Given the description of an element on the screen output the (x, y) to click on. 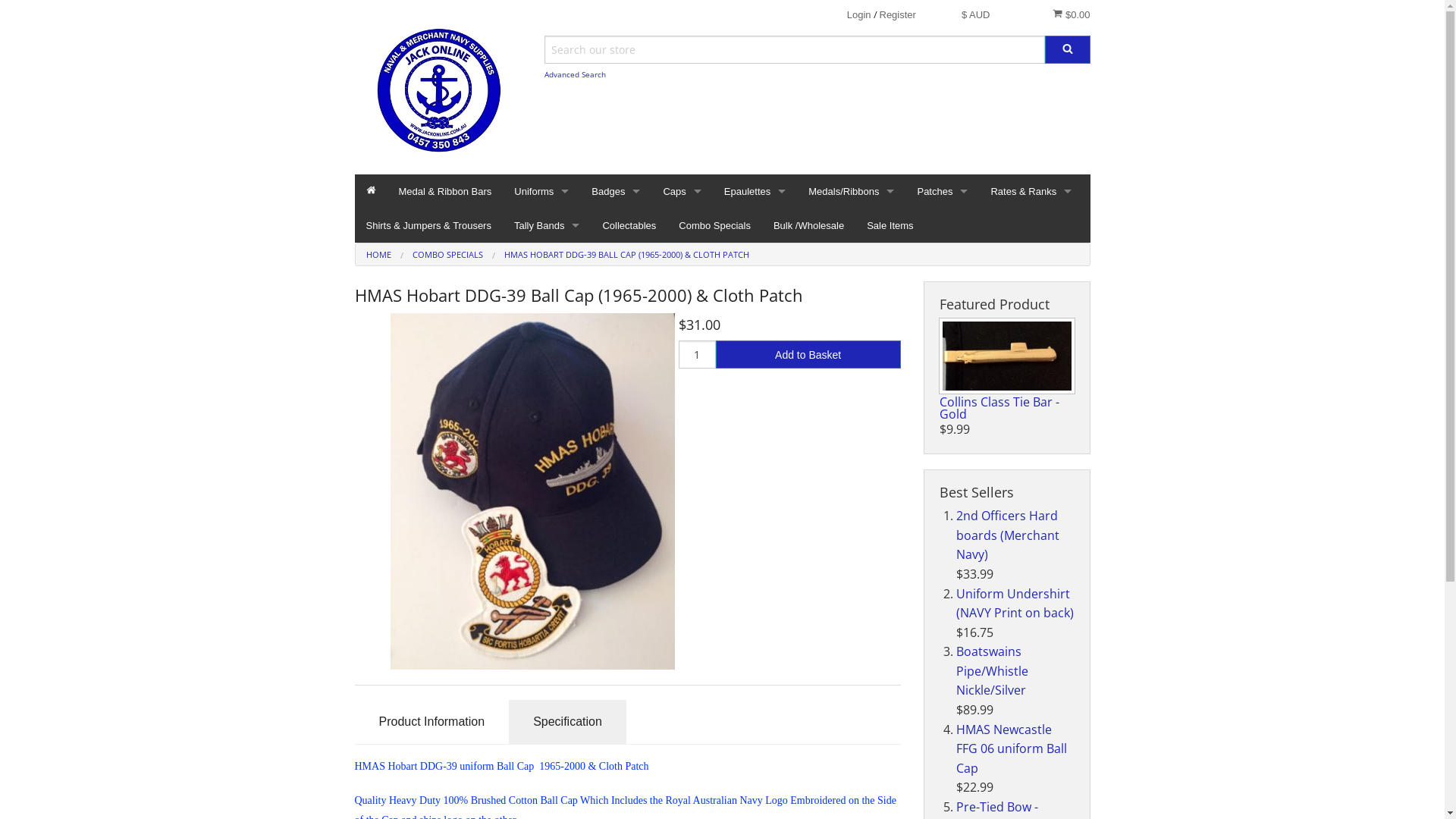
Sale Items Element type: text (889, 225)
Charter Boats Element type: text (754, 244)
Tally Bands Element type: text (546, 225)
Register Element type: text (897, 14)
Patches Element type: text (942, 191)
Collectable Rates & Ranks Element type: text (1030, 312)
Advanced Search Element type: text (574, 74)
Buttons Element type: text (541, 346)
2nd Officers Hard boards (Merchant Navy) Element type: text (1007, 534)
HMAS Newcastle FFG 06 uniform Ball Cap Element type: text (1011, 748)
Caps Element type: text (681, 191)
Mounted Medals Element type: text (851, 346)
Add to Basket Element type: text (807, 354)
Home Element type: hover (370, 191)
HOME Element type: text (377, 254)
Current RAN Caps Element type: text (681, 278)
Bulk /Wholesale Element type: text (808, 225)
Name Badge Element type: text (541, 449)
Belts Element type: text (541, 312)
Collectables Element type: text (628, 225)
ID Holders Element type: text (541, 381)
Collins Class Tie Bar - Gold  Element type: hover (1005, 355)
DPNU Patches Element type: text (942, 346)
Rates & Ranks Element type: text (1030, 191)
Medals/Ribbons Element type: text (851, 191)
Current RAN Tally Bands Element type: text (546, 278)
Merchant Navy Element type: text (754, 278)
HMAS HOBART DDG-39 BALL CAP (1965-2000) & CLOTH PATCH Element type: text (625, 254)
Collectable Patches Element type: text (942, 312)
Lanyards Element type: text (541, 415)
Raw Medal / Ribbon Mounting Bars Element type: text (851, 415)
Specification Element type: text (567, 721)
Metal Badges Element type: text (615, 278)
Royal Australian Navy Element type: text (754, 312)
COMBO SPECIALS Element type: text (447, 254)
Shirts & Jumpers & Trousers Element type: text (428, 225)
Epaulettes Element type: text (754, 191)
Combo Specials Element type: text (714, 225)
Current Rates & Ranks Element type: text (1030, 278)
Uniforms Element type: text (541, 191)
$0.00 Element type: text (1070, 14)
Uniform Undershirt (NAVY Print on back) Element type: text (1014, 603)
Badges Element type: text (615, 191)
Gold Wire Rates Element type: text (1030, 244)
Product Information Element type: text (431, 721)
Ribbon Only Element type: text (851, 278)
Boatswains Pipe/Whistle Nickle/Silver Element type: text (992, 670)
Clasps Element type: text (851, 312)
Collins Class Tie Bar - Gold Element type: text (998, 407)
Non Current Caps Element type: text (681, 312)
Medal & Ribbon Bars Element type: text (444, 191)
Mounted Ribbon Bars Element type: text (851, 381)
Dress Caps Element type: text (681, 244)
Socks Element type: text (541, 244)
Login Element type: text (859, 14)
Search Element type: text (1067, 49)
Cap Badges Element type: text (615, 244)
Accessories Element type: text (541, 278)
Medals Only Element type: text (851, 244)
Gold Wire Badges Element type: text (942, 278)
Tie-Pins/Bars Element type: text (541, 483)
Crest Style Patches Element type: text (942, 244)
